Given the description of an element on the screen output the (x, y) to click on. 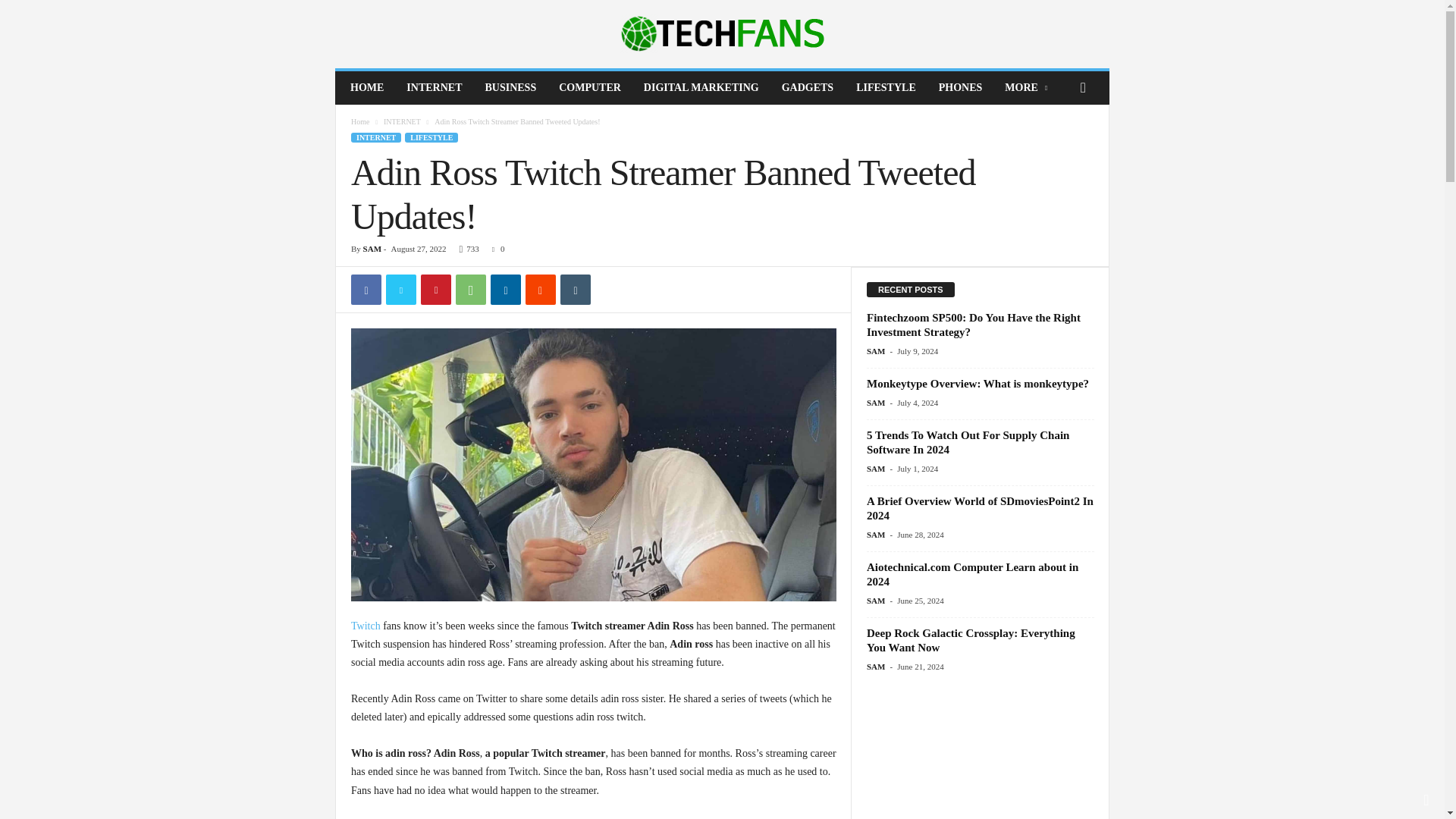
HOME (366, 87)
GADGETS (807, 87)
BUSINESS (510, 87)
PHONES (960, 87)
TechFans.net (721, 33)
MORE (1026, 87)
Pinterest (435, 289)
Twitter (400, 289)
COMPUTER (589, 87)
INTERNET (433, 87)
